Given the description of an element on the screen output the (x, y) to click on. 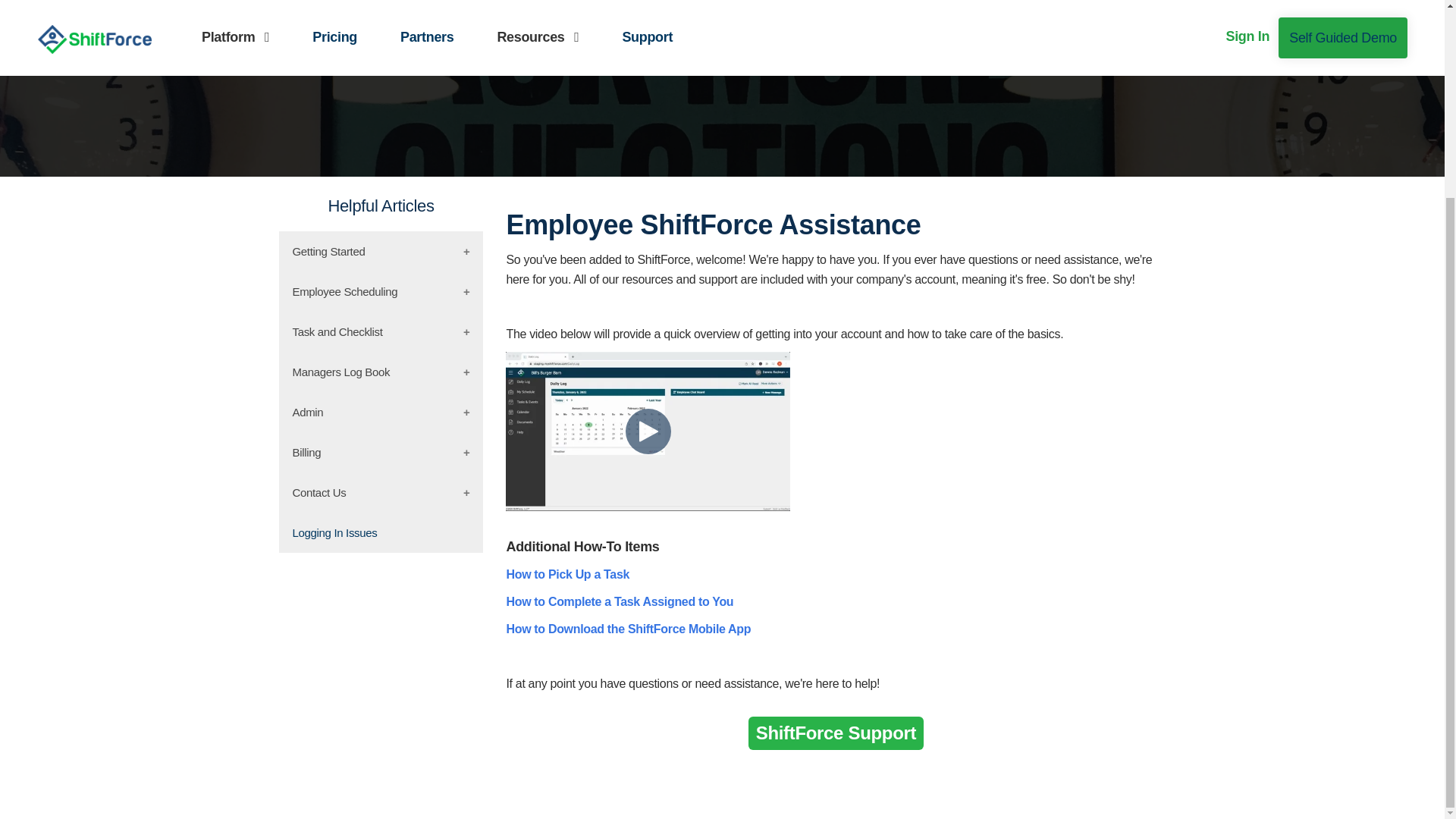
Employee Scheduling (381, 291)
Getting Started (381, 250)
ShiftForce Support (835, 733)
HubSpot Video (647, 431)
